Given the description of an element on the screen output the (x, y) to click on. 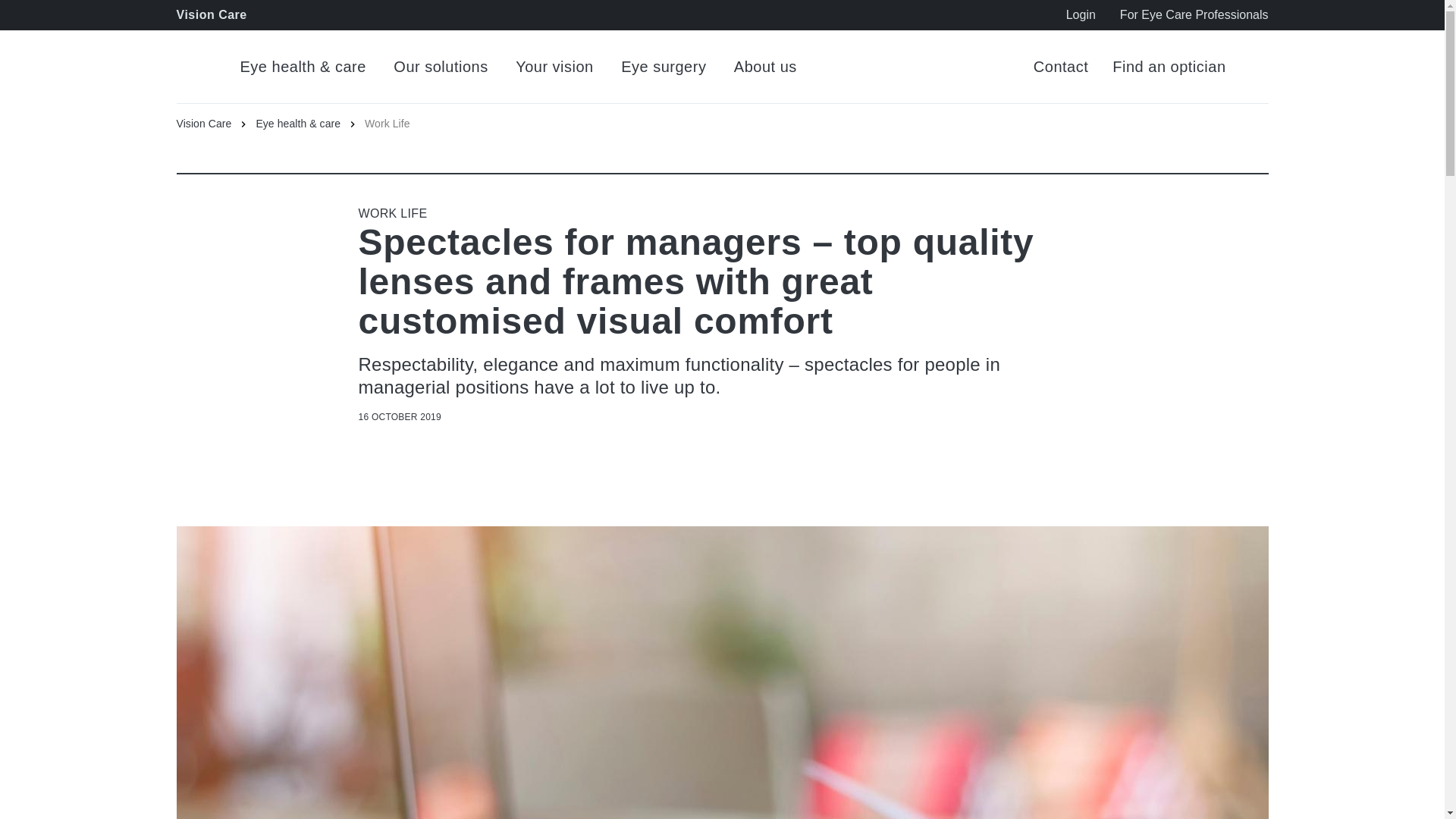
For Eye Care Professionals (1193, 14)
Our solutions (440, 66)
Contact (1060, 66)
For Eye Care Professionals (1193, 14)
Your vision (554, 66)
Eye surgery (663, 66)
Login (1080, 14)
Vision Care (216, 123)
Login (1080, 14)
Find an optician (1168, 66)
